Given the description of an element on the screen output the (x, y) to click on. 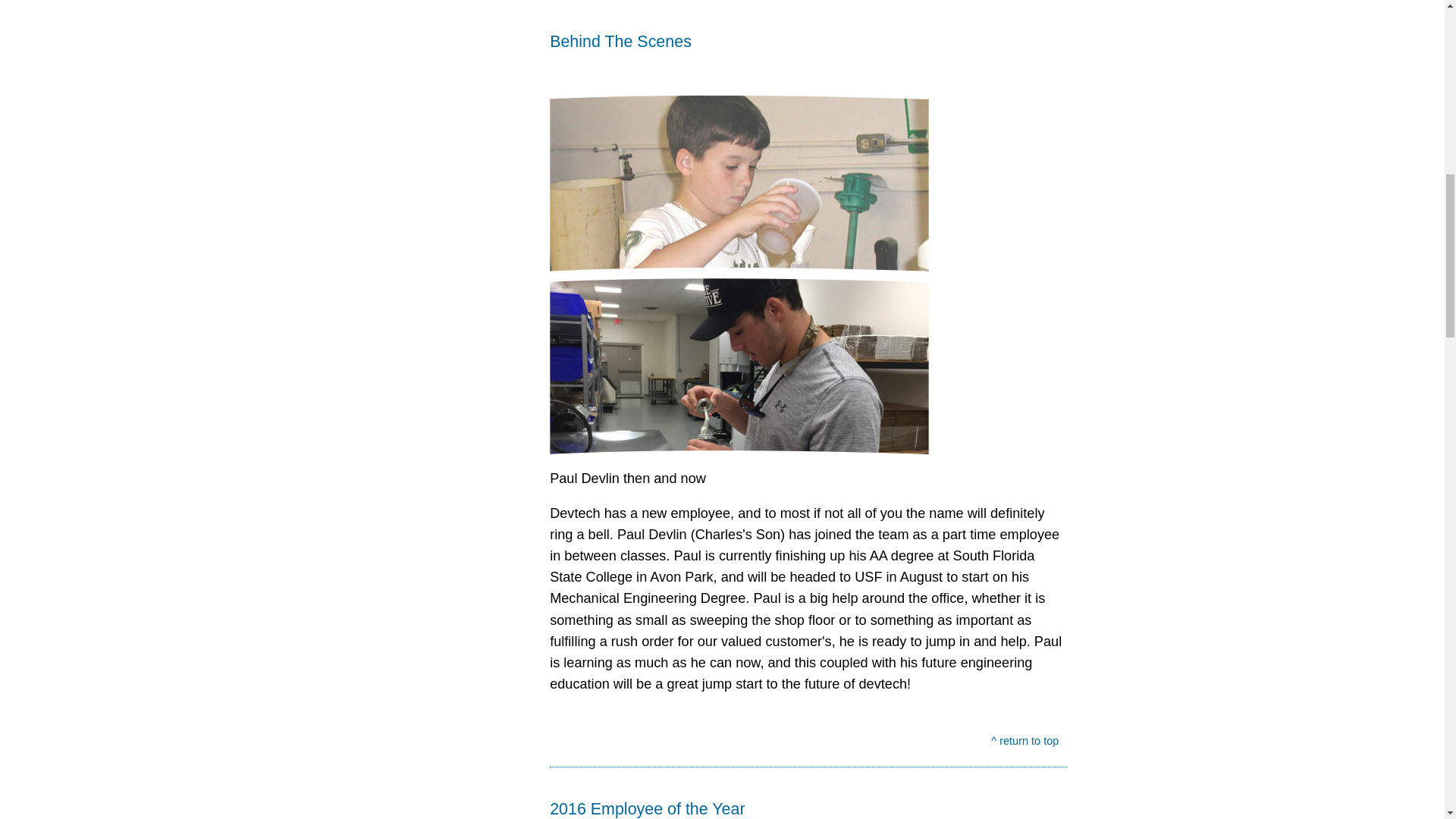
2016 Employee of the Year (807, 807)
Behind The Scenes (807, 53)
